Given the description of an element on the screen output the (x, y) to click on. 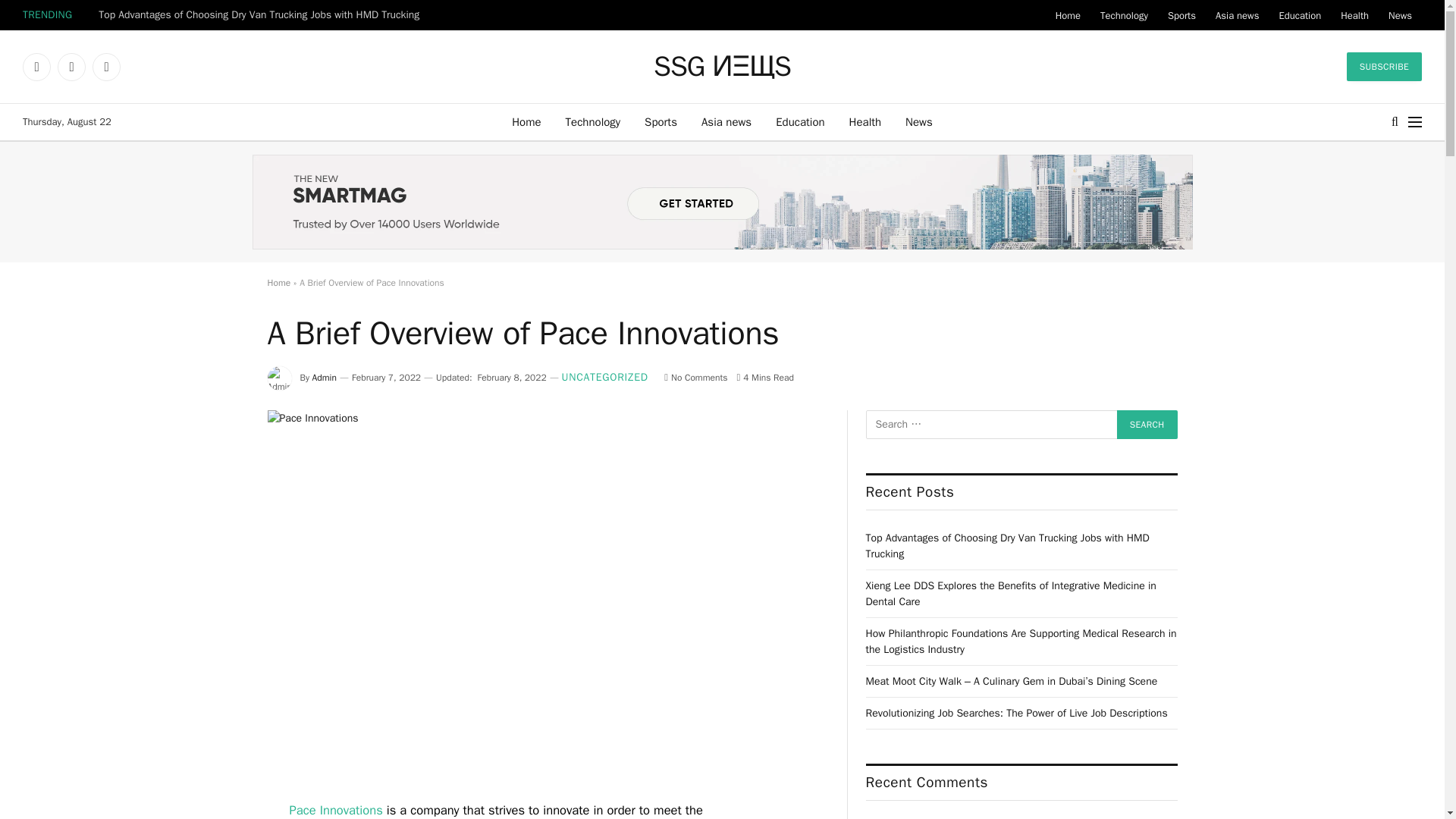
News (918, 122)
Instagram (106, 67)
Health (865, 122)
Home (526, 122)
Posts by Admin (324, 377)
Asia news (725, 122)
Search (1146, 424)
Technology (1123, 15)
